Given the description of an element on the screen output the (x, y) to click on. 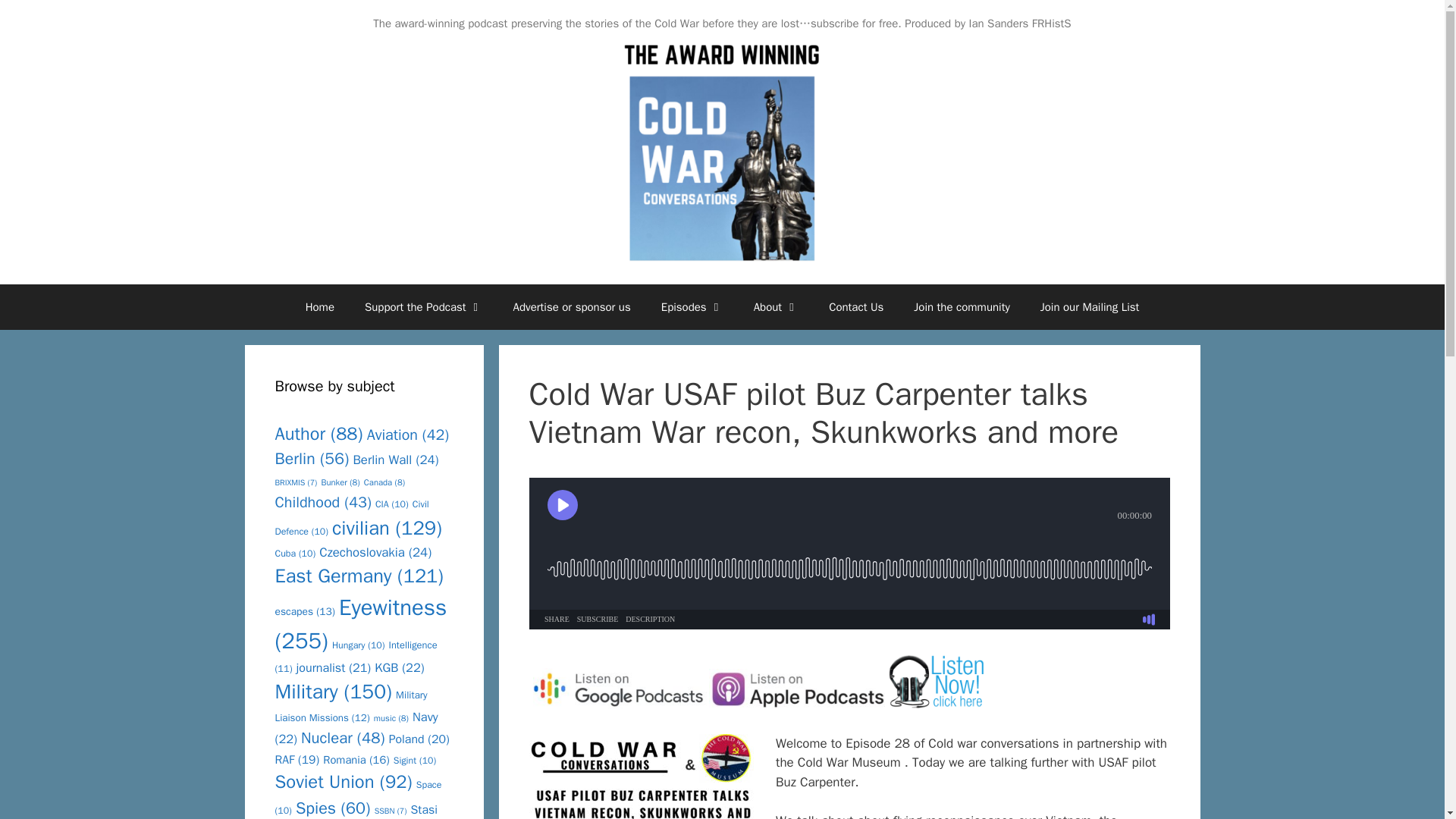
Join our Mailing List (1089, 307)
Contact Us (855, 307)
Advertise or sponsor us (571, 307)
About (775, 307)
Home (319, 307)
Episodes (692, 307)
Join the community (961, 307)
Support the Podcast (423, 307)
